Given the description of an element on the screen output the (x, y) to click on. 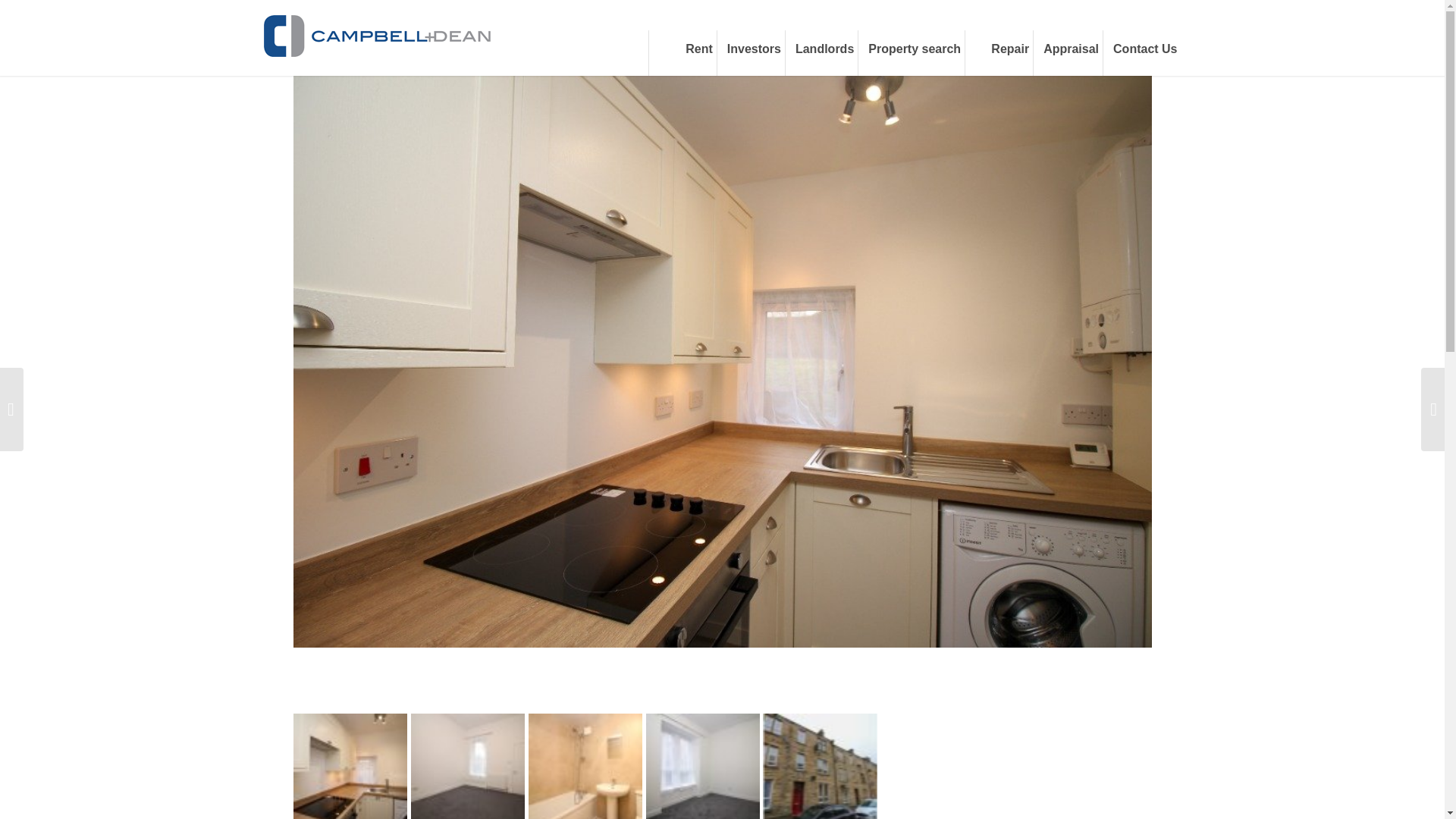
Investors (750, 53)
Landlords (820, 53)
Contact Us (1141, 53)
Appraisal (1067, 53)
Repair (997, 53)
Property search (910, 53)
Rent (681, 53)
